Given the description of an element on the screen output the (x, y) to click on. 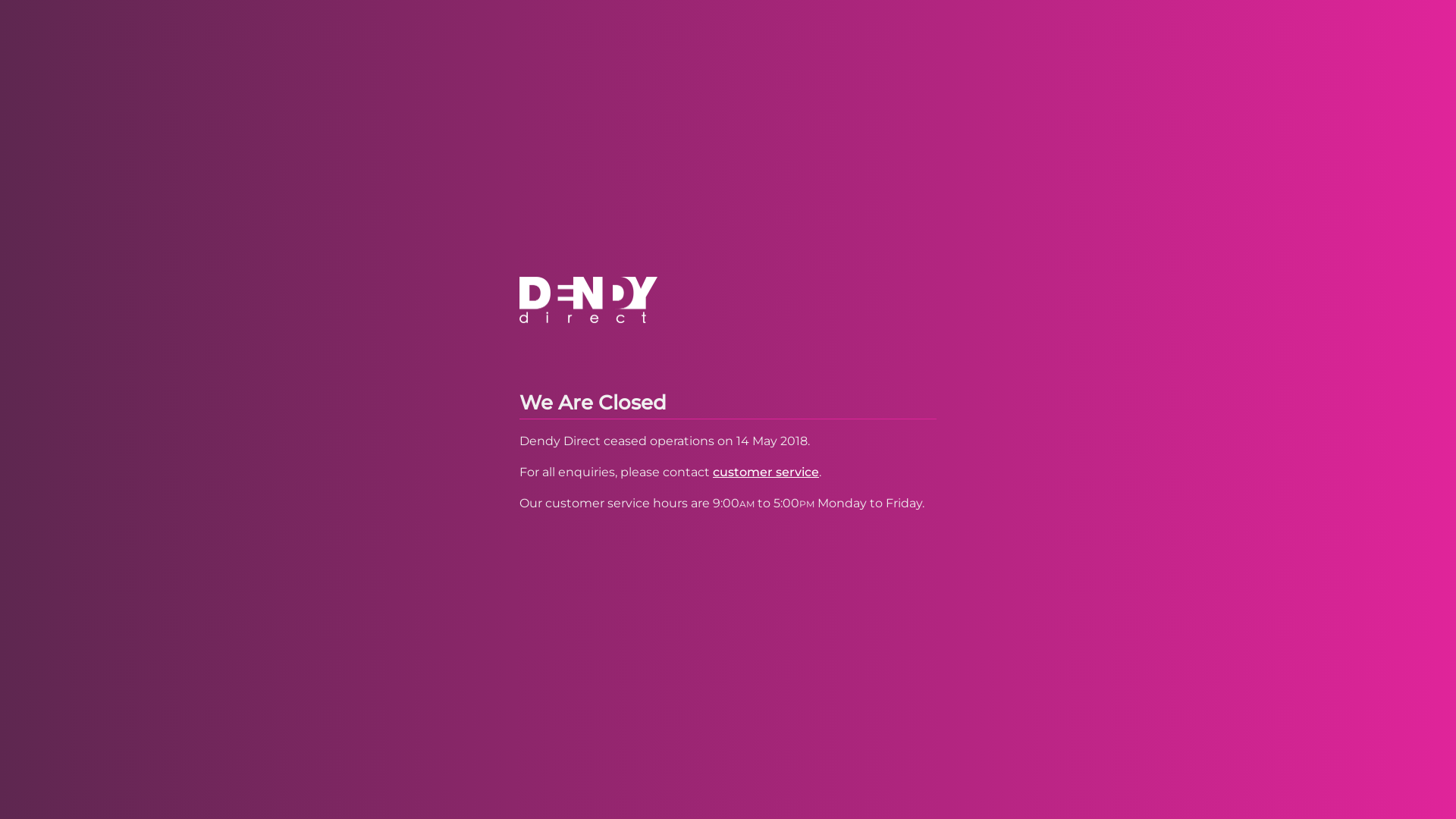
customer service Element type: text (765, 471)
